Given the description of an element on the screen output the (x, y) to click on. 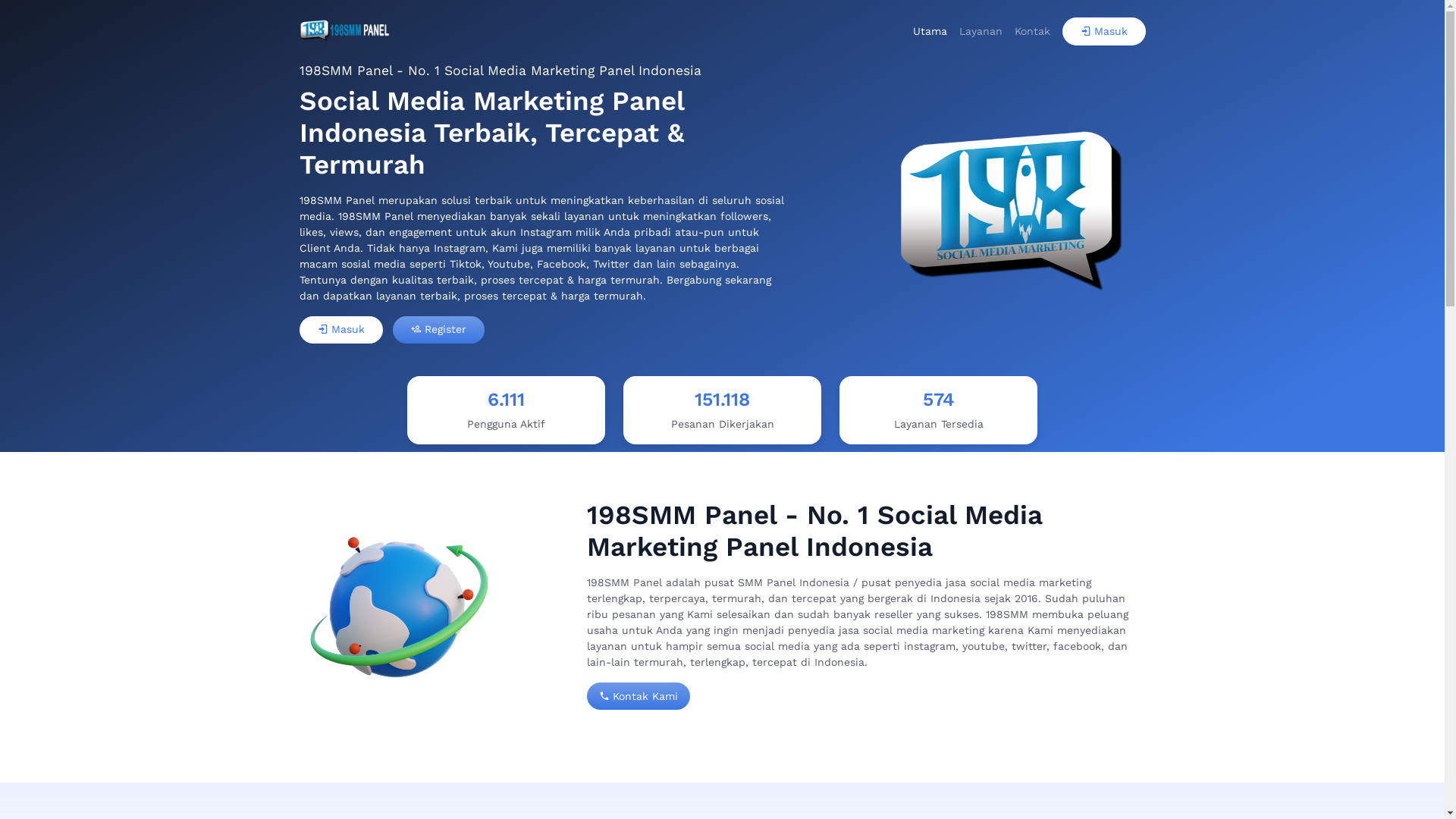
Layanan Element type: text (979, 31)
Kontak Element type: text (1032, 31)
Masuk Element type: text (1103, 31)
Utama Element type: text (929, 31)
Masuk Element type: text (340, 329)
Register Element type: text (438, 329)
Kontak Kami Element type: text (638, 695)
